Given the description of an element on the screen output the (x, y) to click on. 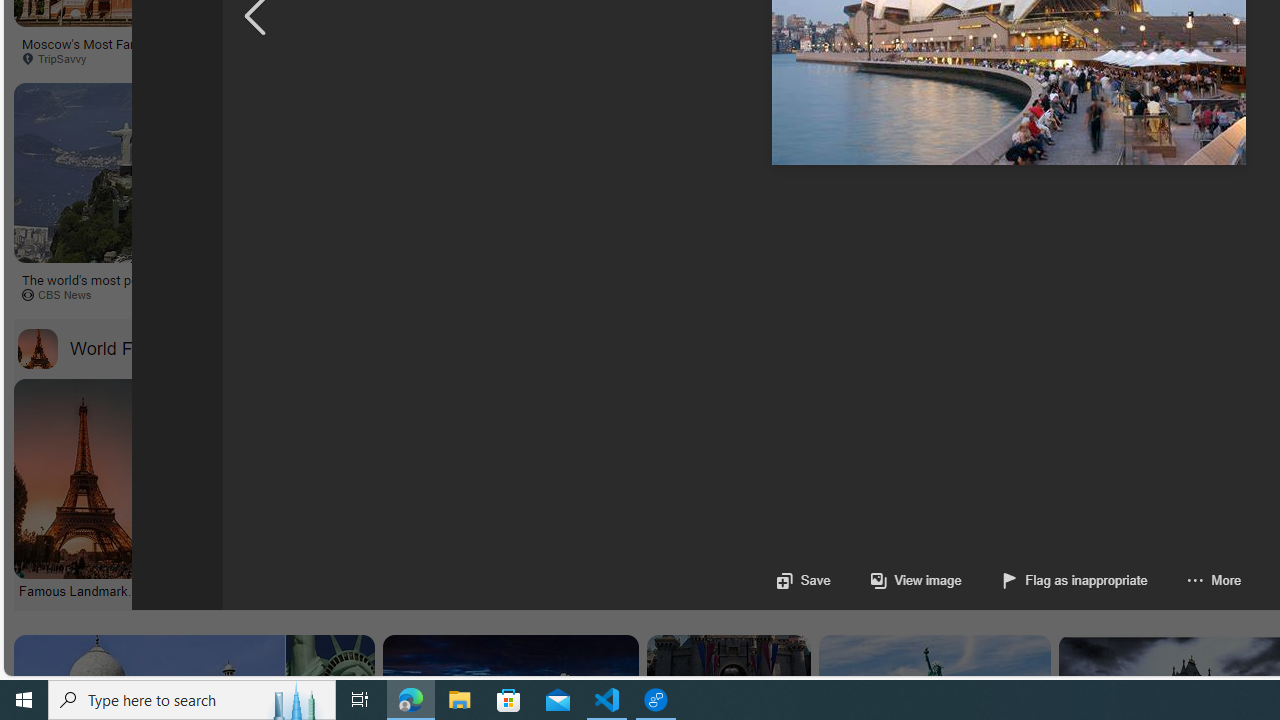
World Famous Landmarks (37, 348)
Canada's Best Attractions and Destinations (1009, 279)
andiamo.co.uk (451, 295)
Famous Landmarks in the world (82, 589)
Famous Landmarks in the world Famous Landmarks in the world (80, 489)
Image result for World tourist attraction (1136, 217)
World Famous Landmarks Images - Barbi Carlota (890, 589)
